Given the description of an element on the screen output the (x, y) to click on. 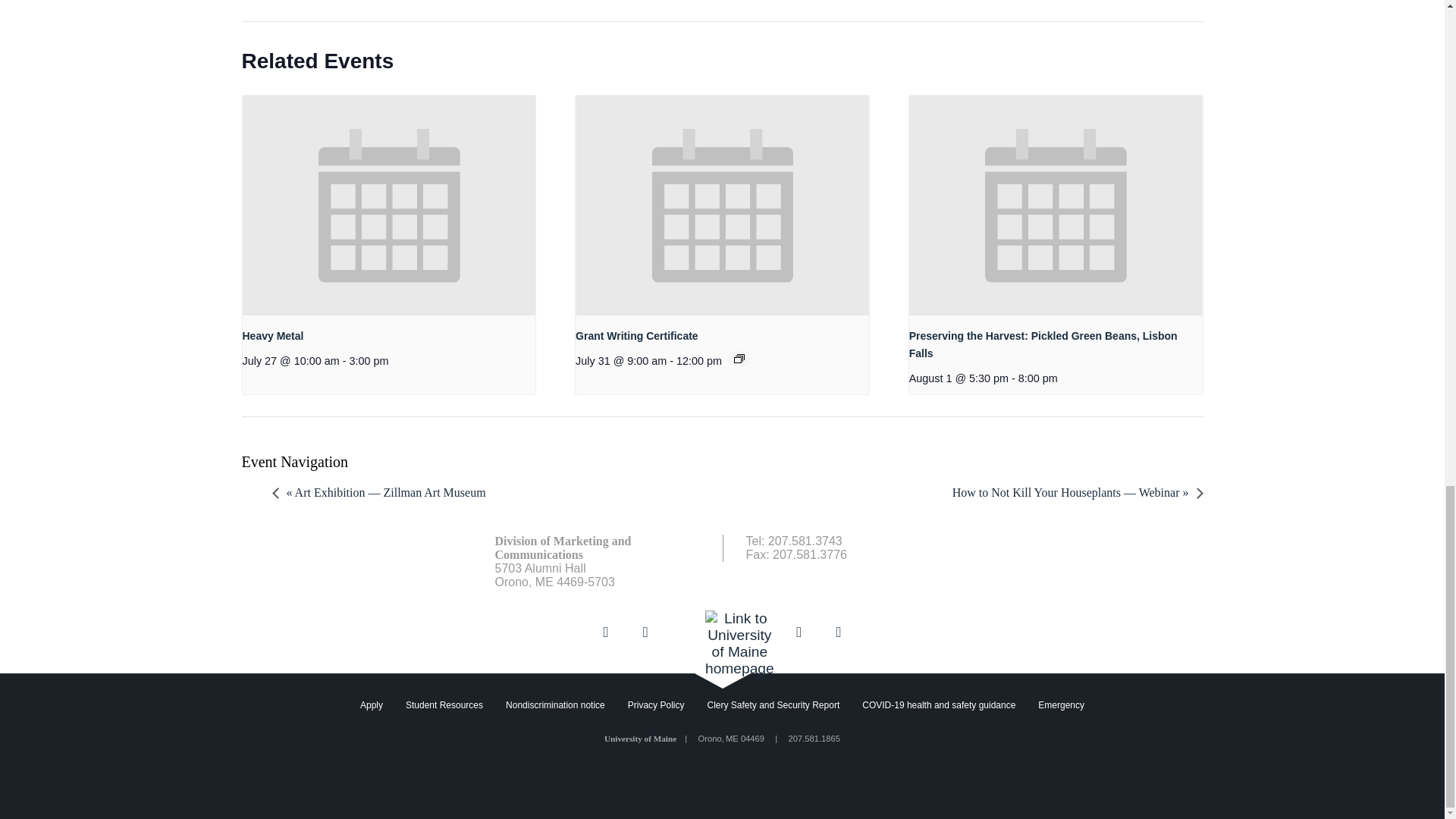
Event Series (738, 358)
